Given the description of an element on the screen output the (x, y) to click on. 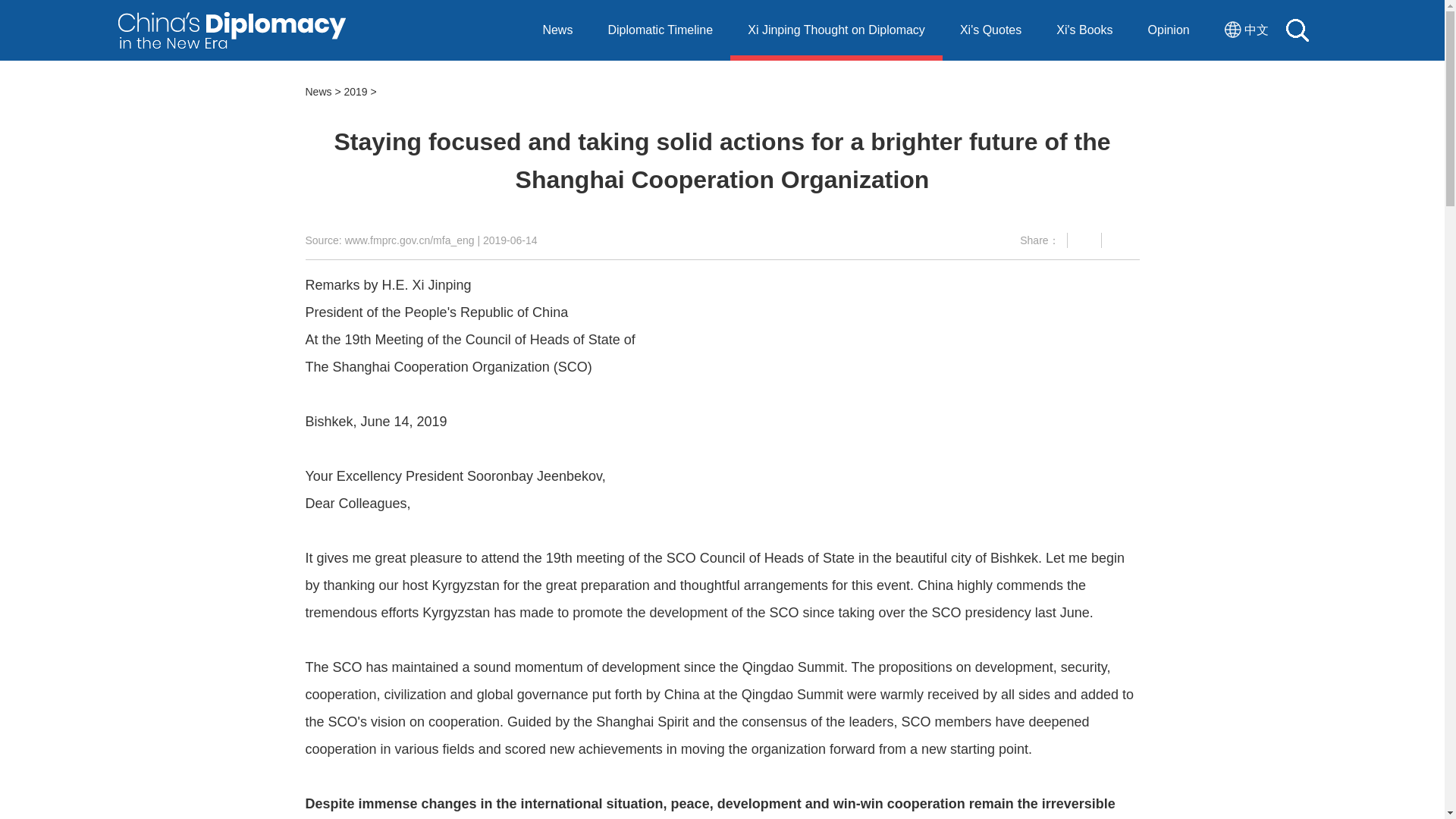
Xi's Books (1084, 30)
Xi's Quotes (990, 30)
Opinion (1168, 30)
Diplomatic Timeline (660, 30)
News (556, 30)
2019 (354, 91)
Xi Jinping Thought on Diplomacy (836, 30)
